Given the description of an element on the screen output the (x, y) to click on. 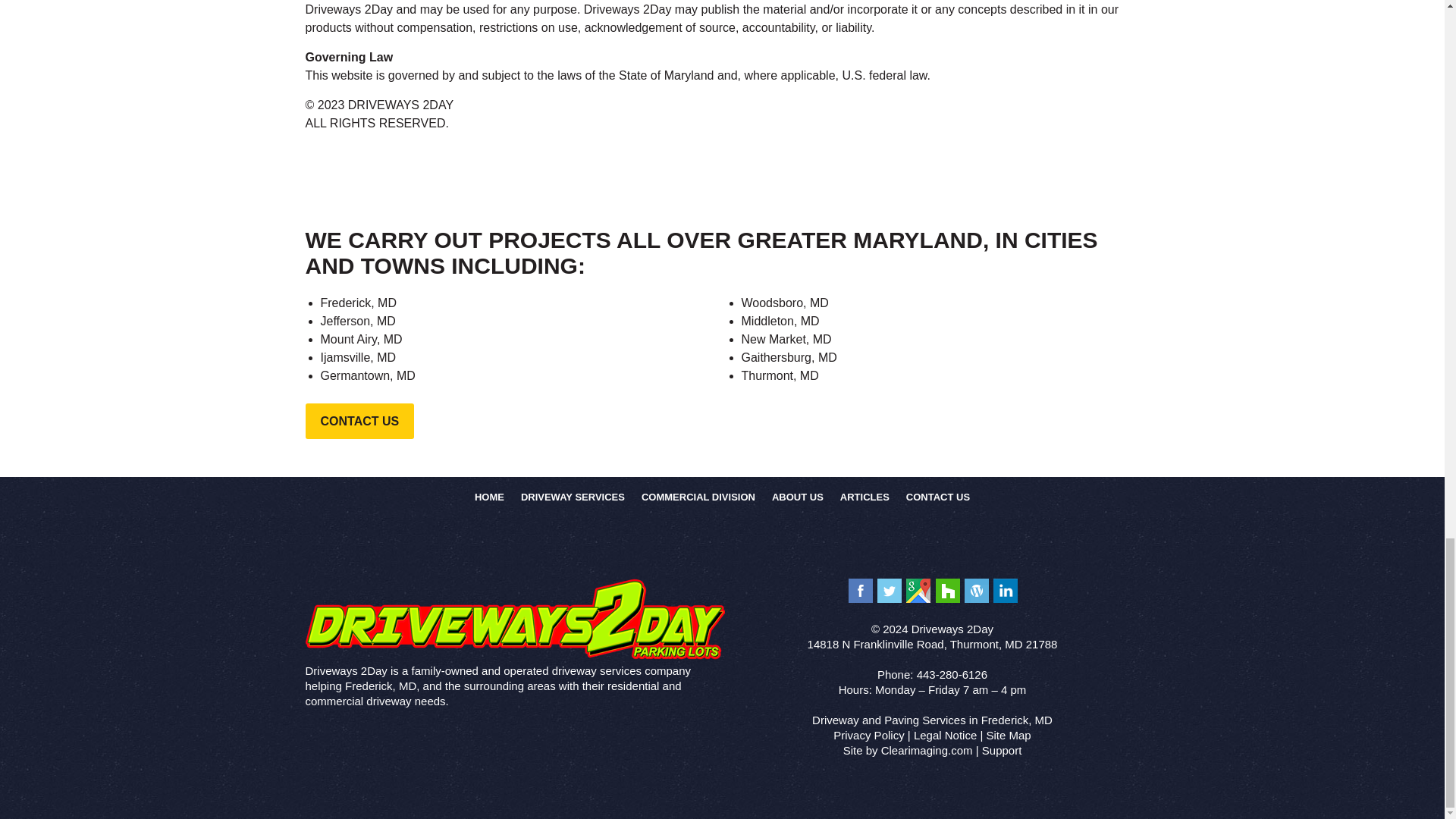
Houzz (947, 590)
